Given the description of an element on the screen output the (x, y) to click on. 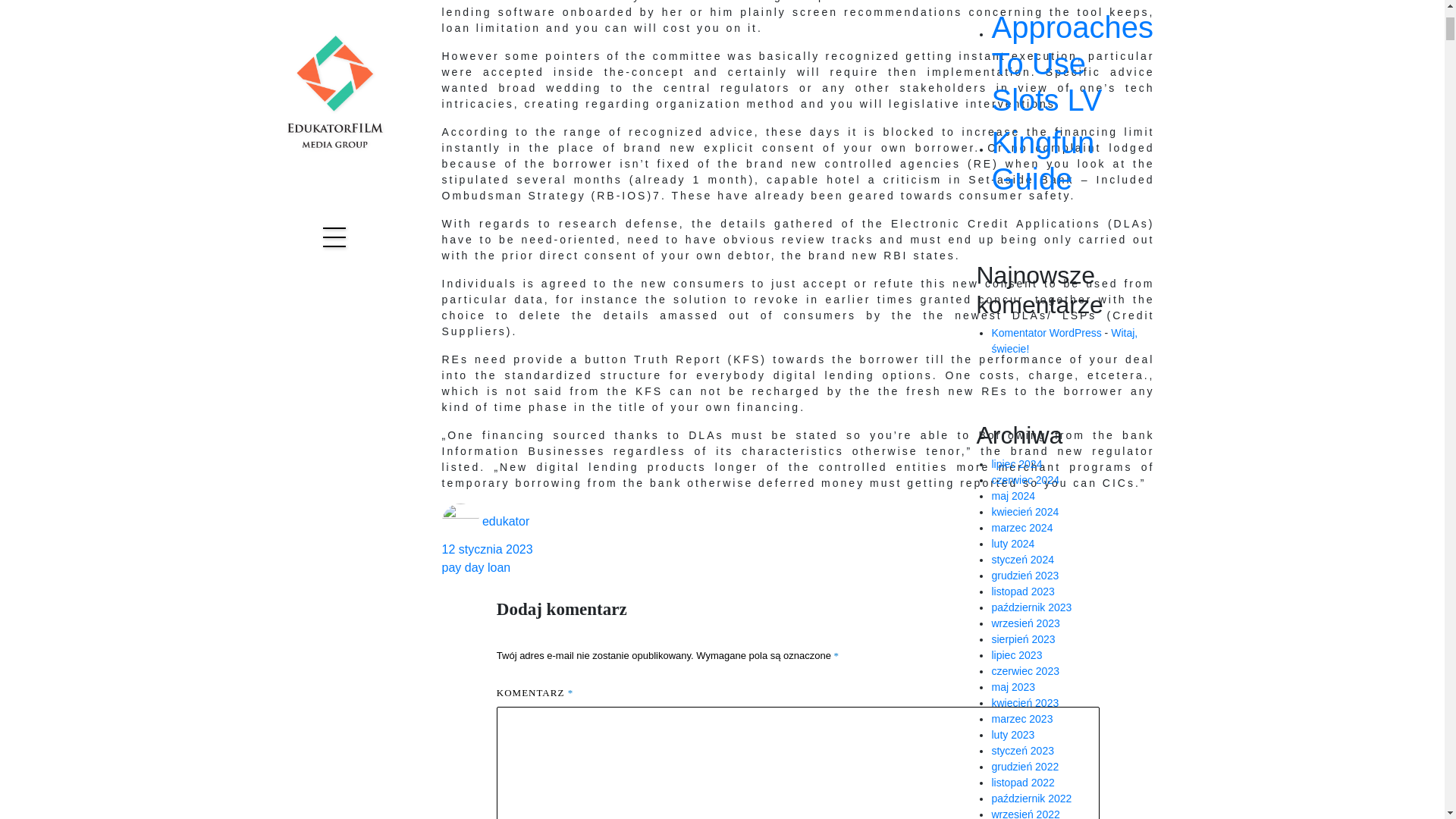
czerwiec 2024 (1025, 480)
pay day loan (476, 567)
Komentator WordPress (1045, 332)
Kingfun Guide (1072, 160)
maj 2024 (1013, 495)
lipiec 2023 (1016, 654)
luty 2024 (1012, 543)
lipiec 2024 (1016, 463)
maj 2023 (1013, 686)
12 stycznia 2023 (797, 569)
marzec 2024 (1021, 527)
Approaches To Use Slots LV (1072, 63)
czerwiec 2023 (1025, 671)
luty 2023 (1012, 734)
marzec 2023 (1021, 718)
